Given the description of an element on the screen output the (x, y) to click on. 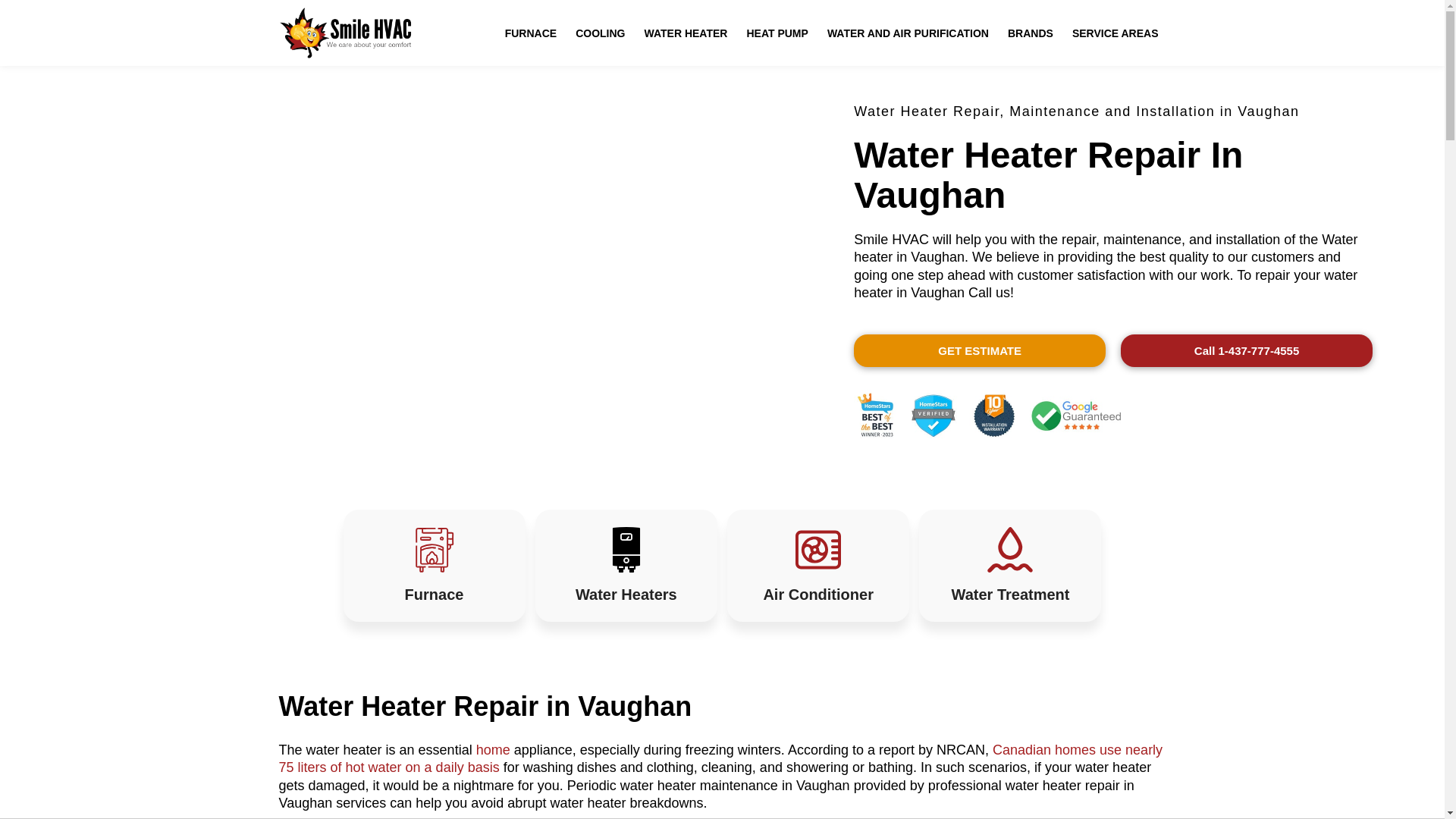
COOLING (599, 33)
Smile HVAC (346, 31)
WATER AND AIR PURIFICATION (907, 33)
HEAT PUMP (776, 33)
BRANDS (1029, 33)
WATER HEATER (686, 33)
FURNACE (530, 33)
